Given the description of an element on the screen output the (x, y) to click on. 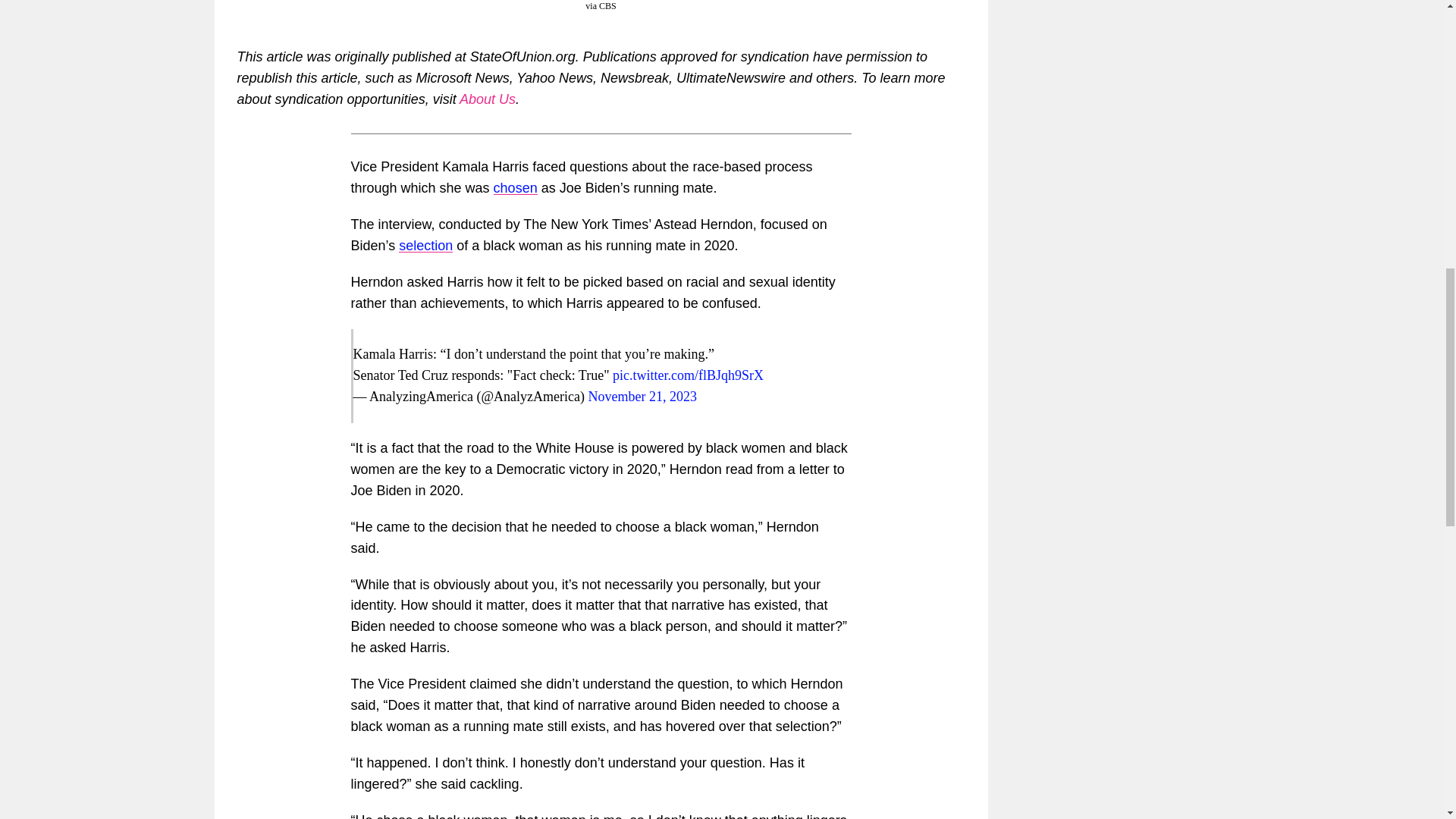
chosen (515, 187)
selection (425, 245)
About Us (487, 99)
